Given the description of an element on the screen output the (x, y) to click on. 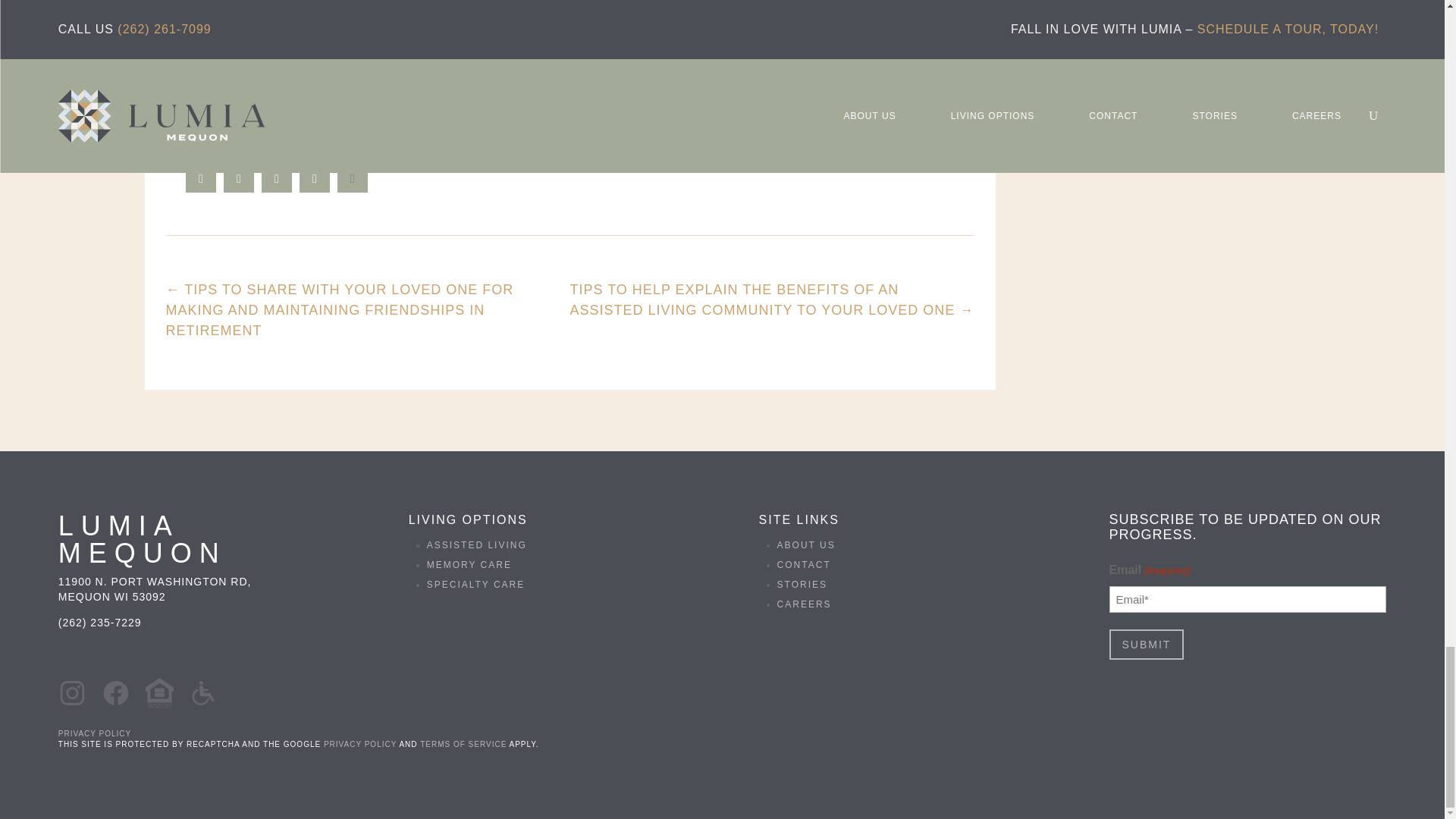
icon-instagram (71, 693)
icon-housing (159, 693)
icon-accessibility (202, 693)
Submit (1147, 644)
icon-facebook (115, 693)
